Given the description of an element on the screen output the (x, y) to click on. 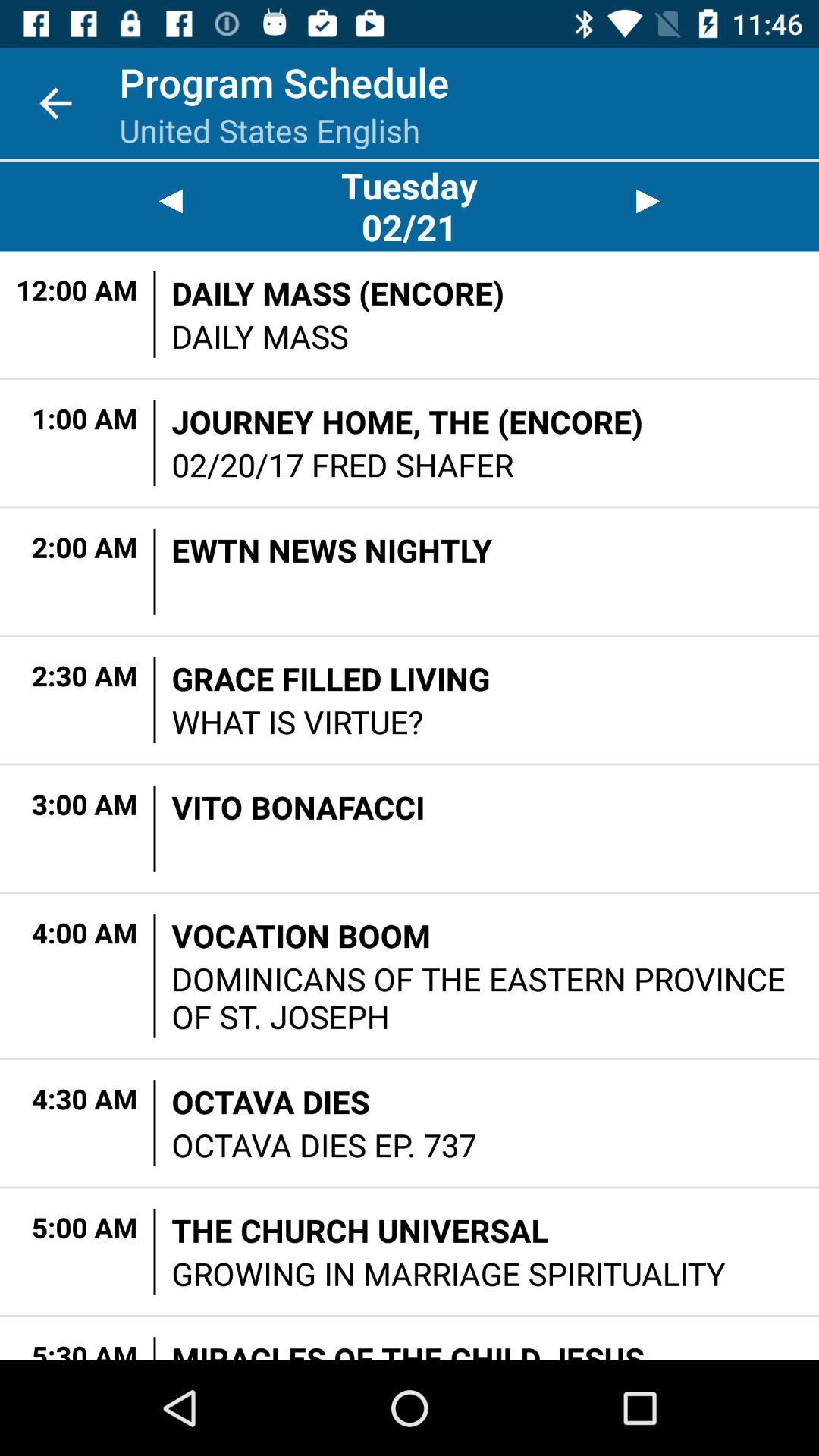
open the icon next to 2:00 am item (154, 571)
